Given the description of an element on the screen output the (x, y) to click on. 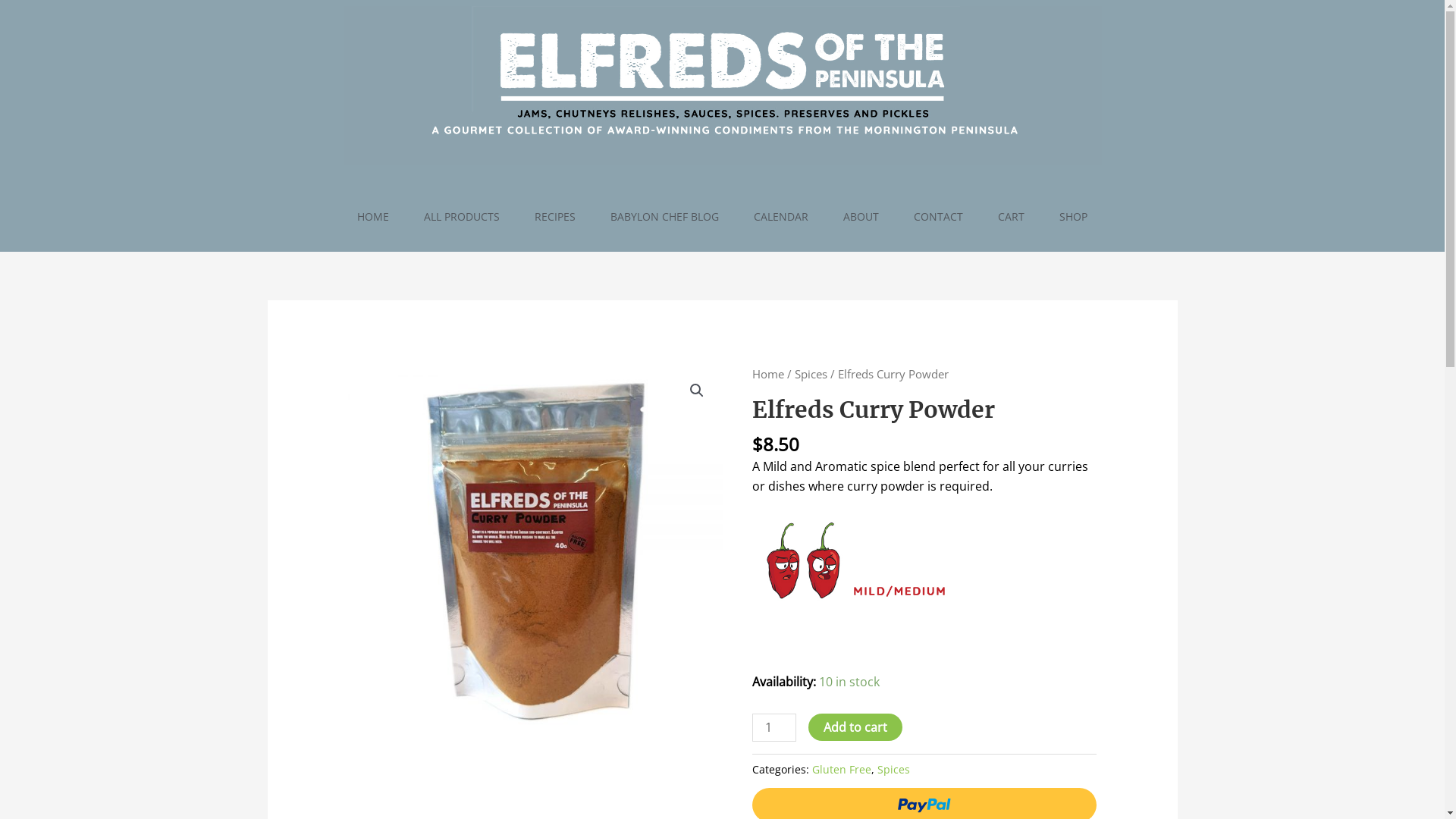
RECIPES Element type: text (554, 216)
ABOUT Element type: text (861, 216)
Spices Element type: text (810, 373)
Spices Element type: text (893, 769)
SHOP Element type: text (1073, 216)
Add to cart Element type: text (855, 726)
BABYLON CHEF BLOG Element type: text (664, 216)
CART Element type: text (1010, 216)
CALENDAR Element type: text (780, 216)
Home Element type: text (768, 373)
HOME Element type: text (373, 216)
Curry-Powder Element type: hover (534, 551)
CONTACT Element type: text (938, 216)
ALL PRODUCTS Element type: text (461, 216)
Gluten Free Element type: text (841, 769)
